Given the description of an element on the screen output the (x, y) to click on. 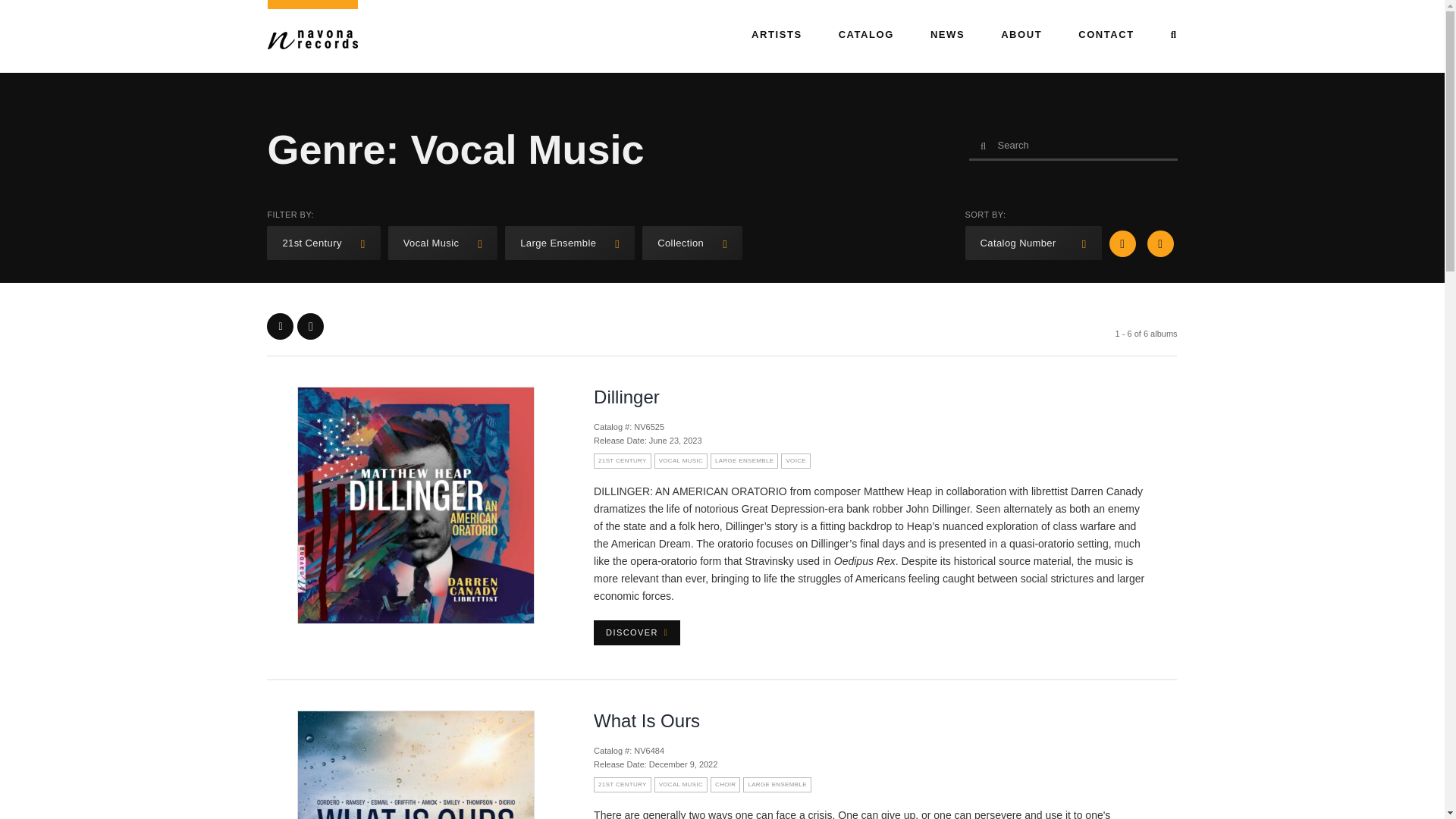
Catalog Number (1033, 243)
DISCOVER (636, 632)
21st Century (323, 243)
Vocal Music (442, 243)
Collection (692, 243)
Large Ensemble (569, 243)
